Given the description of an element on the screen output the (x, y) to click on. 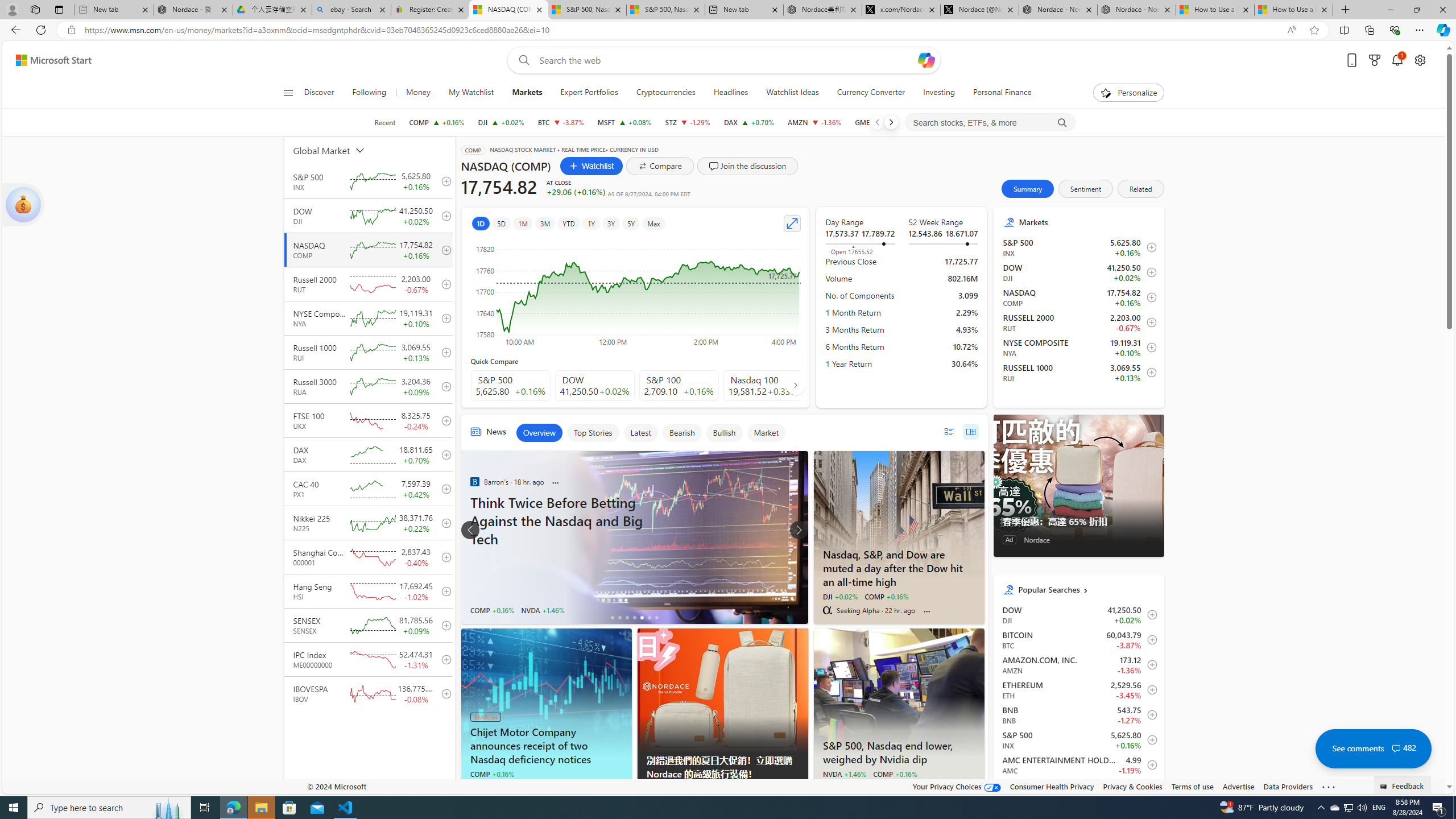
AutomationID: finance_carousel_navi_arrow (795, 385)
3Y (611, 223)
Popular Searches (1085, 589)
Seeking Alpha (474, 786)
S&P 500, Nasdaq end lower, weighed by Nvidia dip - Reuters (898, 692)
Class: feedback_link_icon-DS-EntryPoint1-1 (1384, 786)
Sentiment (1085, 188)
